Given the description of an element on the screen output the (x, y) to click on. 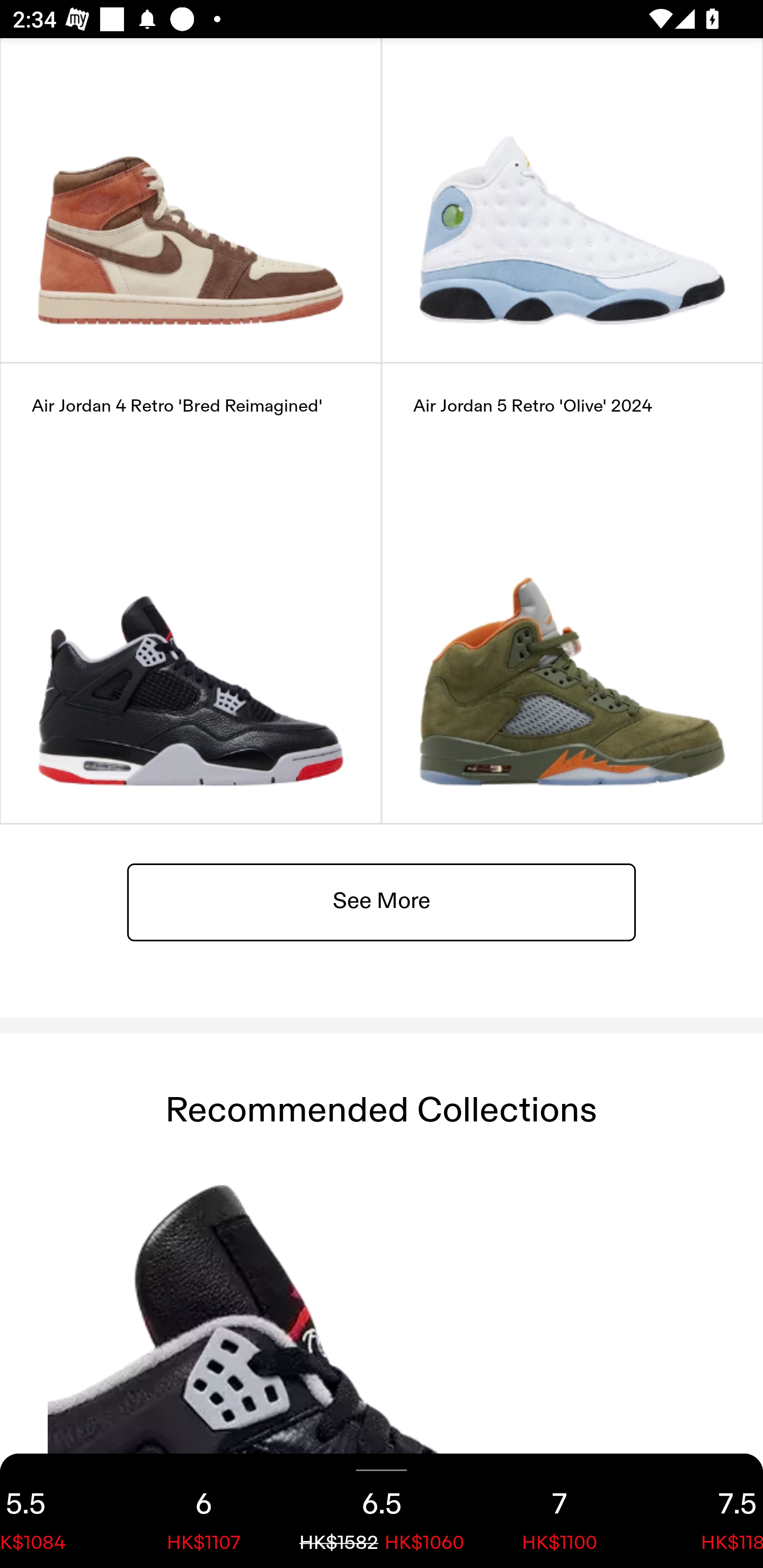
Air Jordan 4 Retro 'Bred Reimagined' (190, 592)
Air Jordan 5 Retro 'Olive' 2024 (572, 592)
See More (381, 901)
5.5 HK$1084 (57, 1510)
6 HK$1107 (203, 1510)
6.5 HK$1582 HK$1060 (381, 1510)
7 HK$1100 (559, 1510)
7.5 HK$1187 (705, 1510)
